Given the description of an element on the screen output the (x, y) to click on. 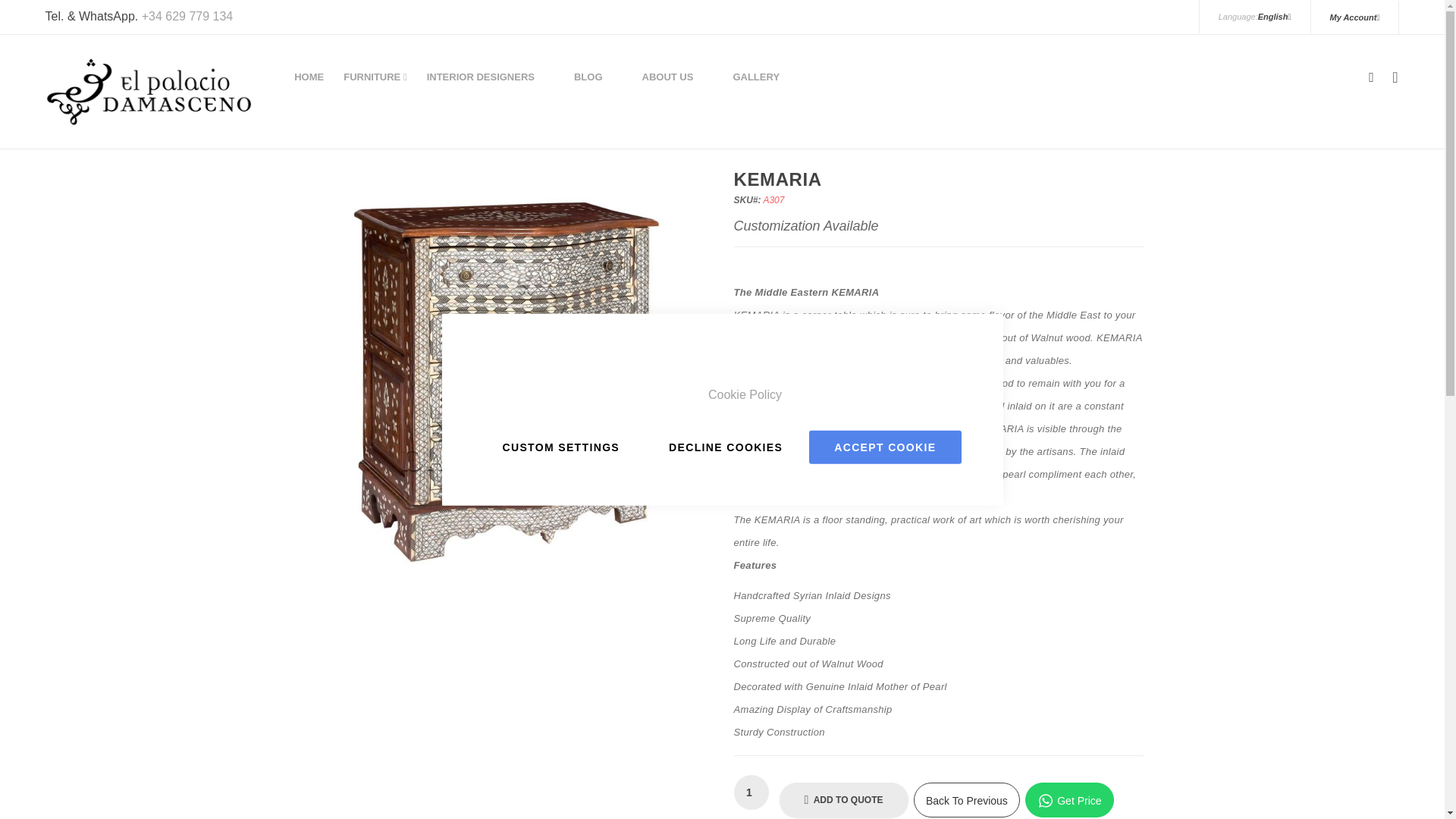
My Account (1354, 17)
Cookie Policy (744, 393)
ADD TO QUOTE (843, 799)
INTERIOR DESIGNERS (480, 77)
DECLINE COOKIES (725, 446)
FURNITURE (374, 77)
Cookie Policy (744, 393)
CUSTOM SETTINGS (560, 446)
ABOUT US (668, 77)
1 (750, 791)
Qty (750, 791)
ACCEPT COOKIE (884, 446)
